Given the description of an element on the screen output the (x, y) to click on. 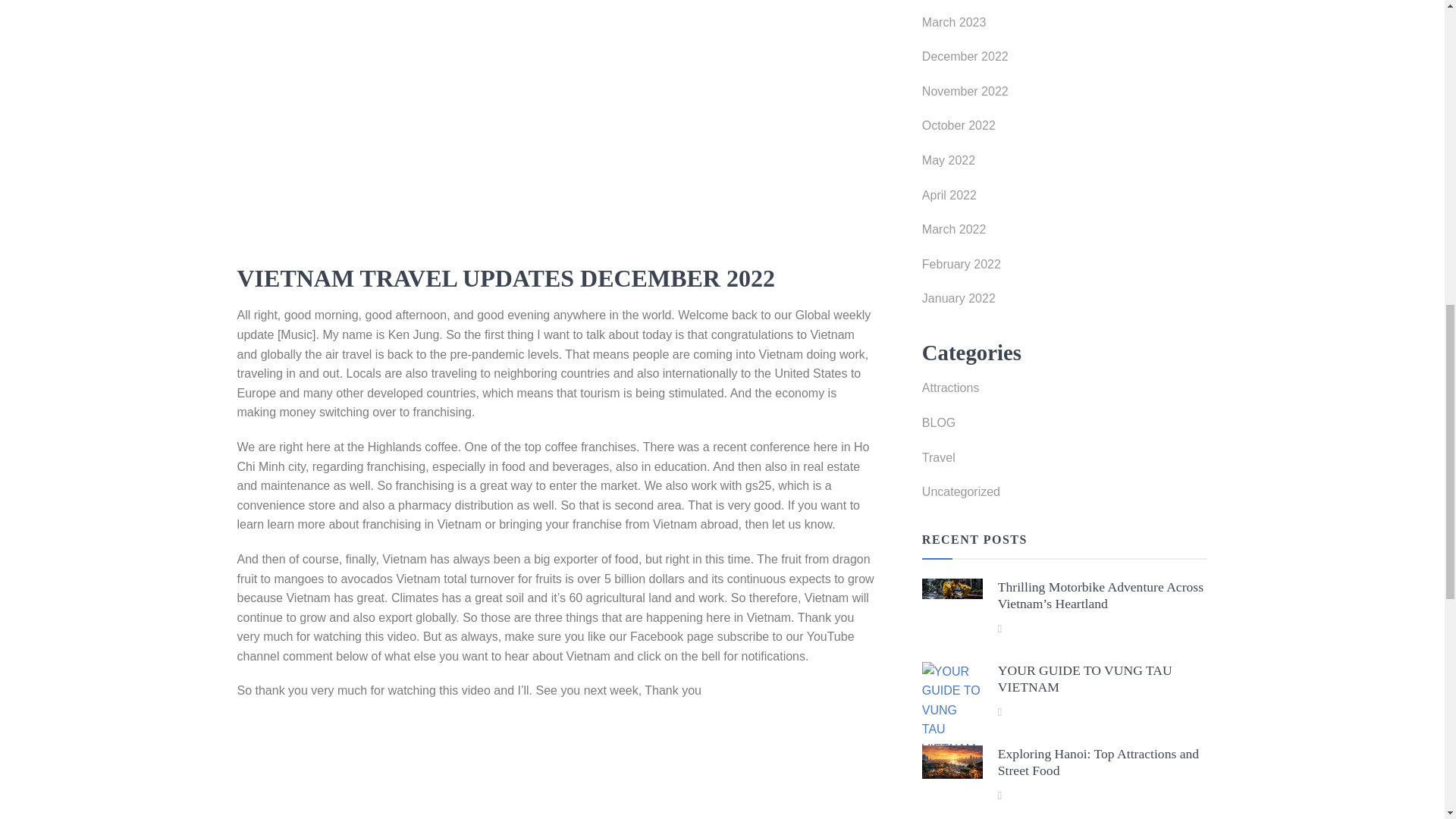
February 2022 (1064, 267)
March 2022 (1064, 233)
October 2022 (1064, 129)
Travel (1064, 461)
September 2023 (1064, 2)
November 2022 (1064, 94)
Exploring Hanoi: Top Attractions and Street Food (1097, 762)
December 2022 (1064, 60)
YOUR GUIDE TO VUNG TAU VIETNAM (1084, 678)
January 2022 (1064, 302)
BLOG (1064, 426)
Uncategorized (1064, 495)
March 2023 (1064, 26)
April 2022 (1064, 198)
Attractions (1064, 391)
